Given the description of an element on the screen output the (x, y) to click on. 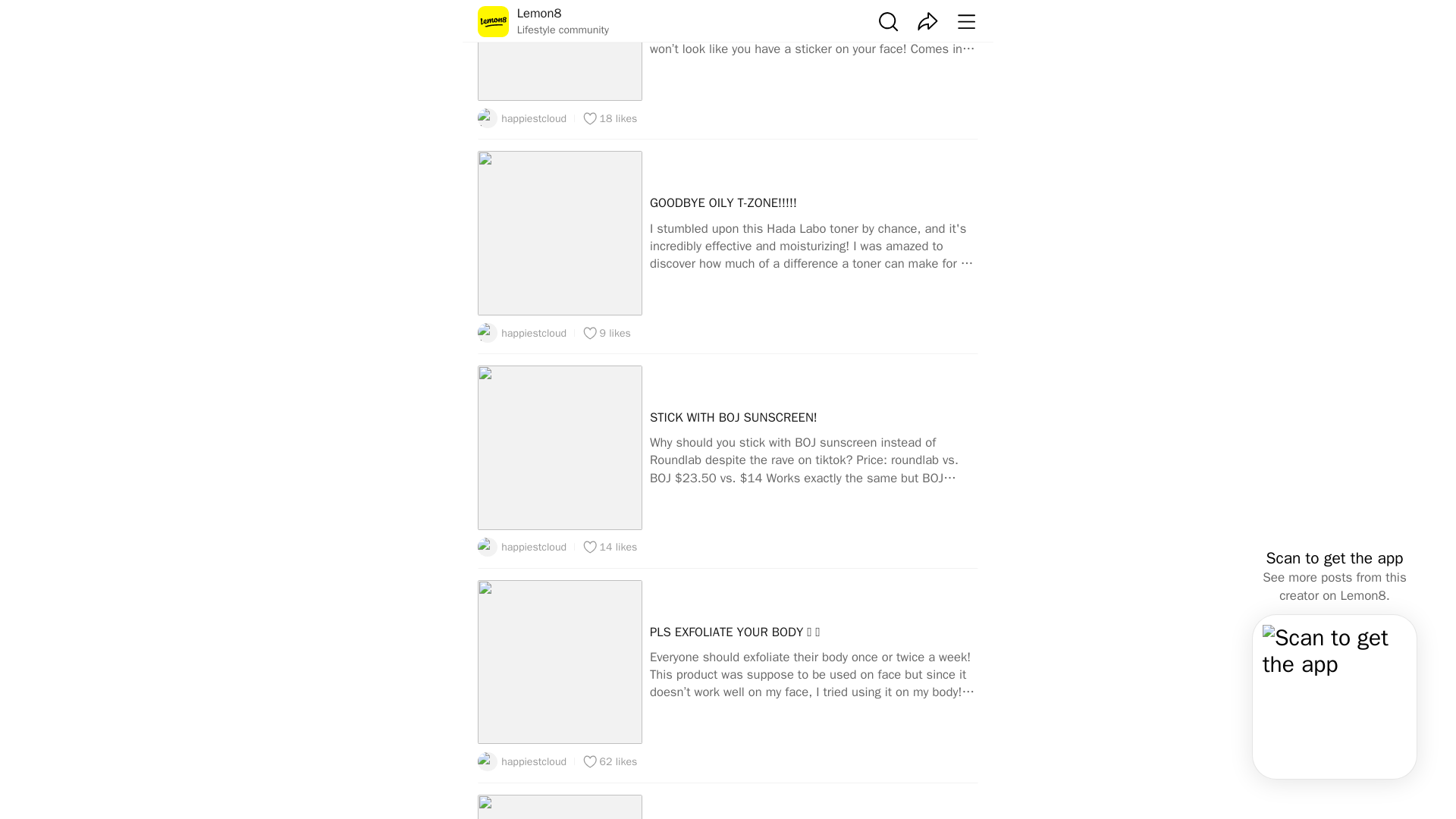
happiestcloud (521, 332)
happiestcloud (521, 762)
happiestcloud (521, 117)
happiestcloud (521, 547)
